Given the description of an element on the screen output the (x, y) to click on. 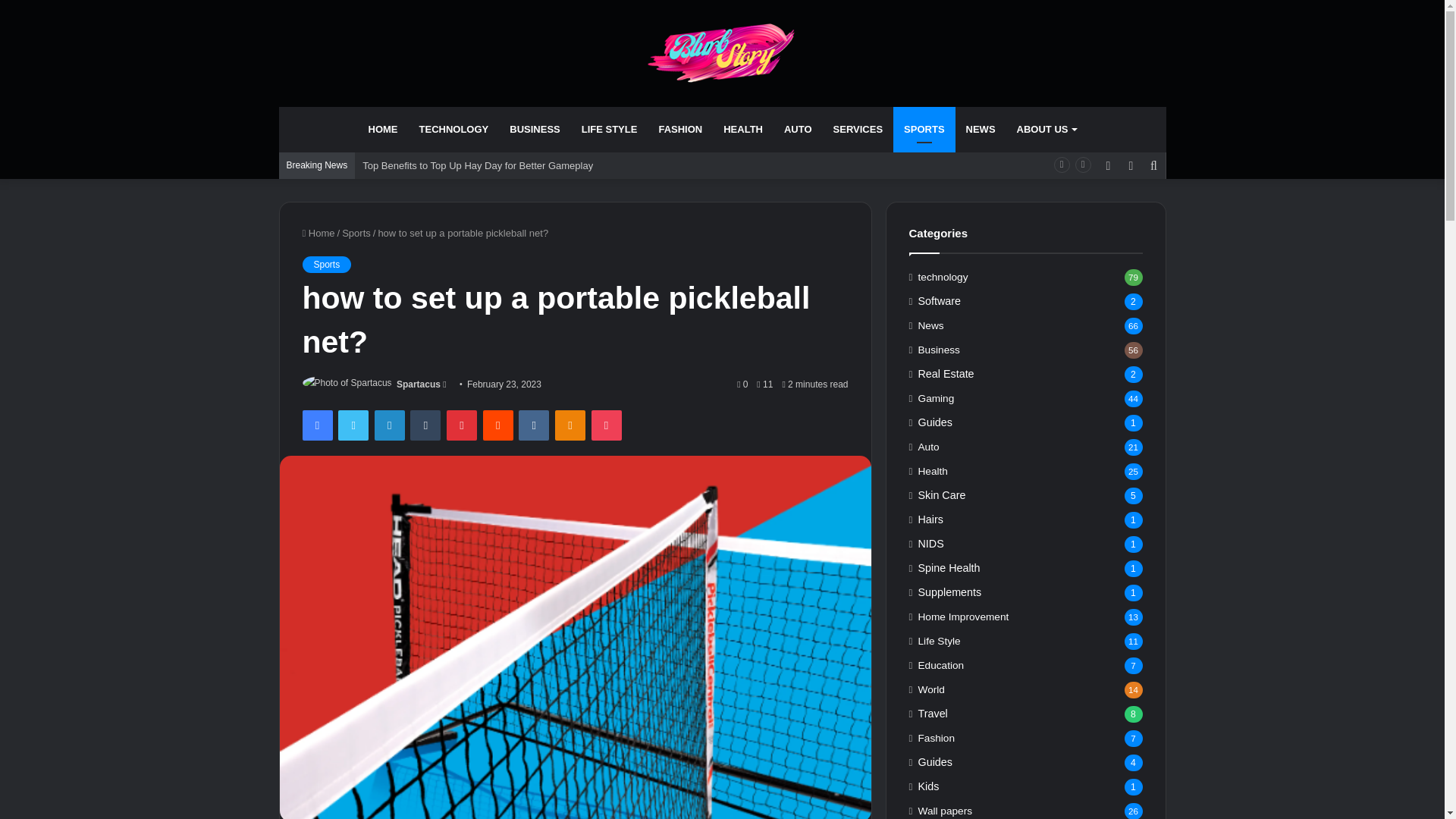
Top Benefits to Top Up Hay Day for Better Gameplay (477, 165)
Reddit (498, 425)
HEALTH (743, 129)
Sports (325, 264)
Home (317, 233)
Twitter (352, 425)
Twitter (352, 425)
Spartacus (418, 384)
FASHION (680, 129)
Pinterest (461, 425)
